Given the description of an element on the screen output the (x, y) to click on. 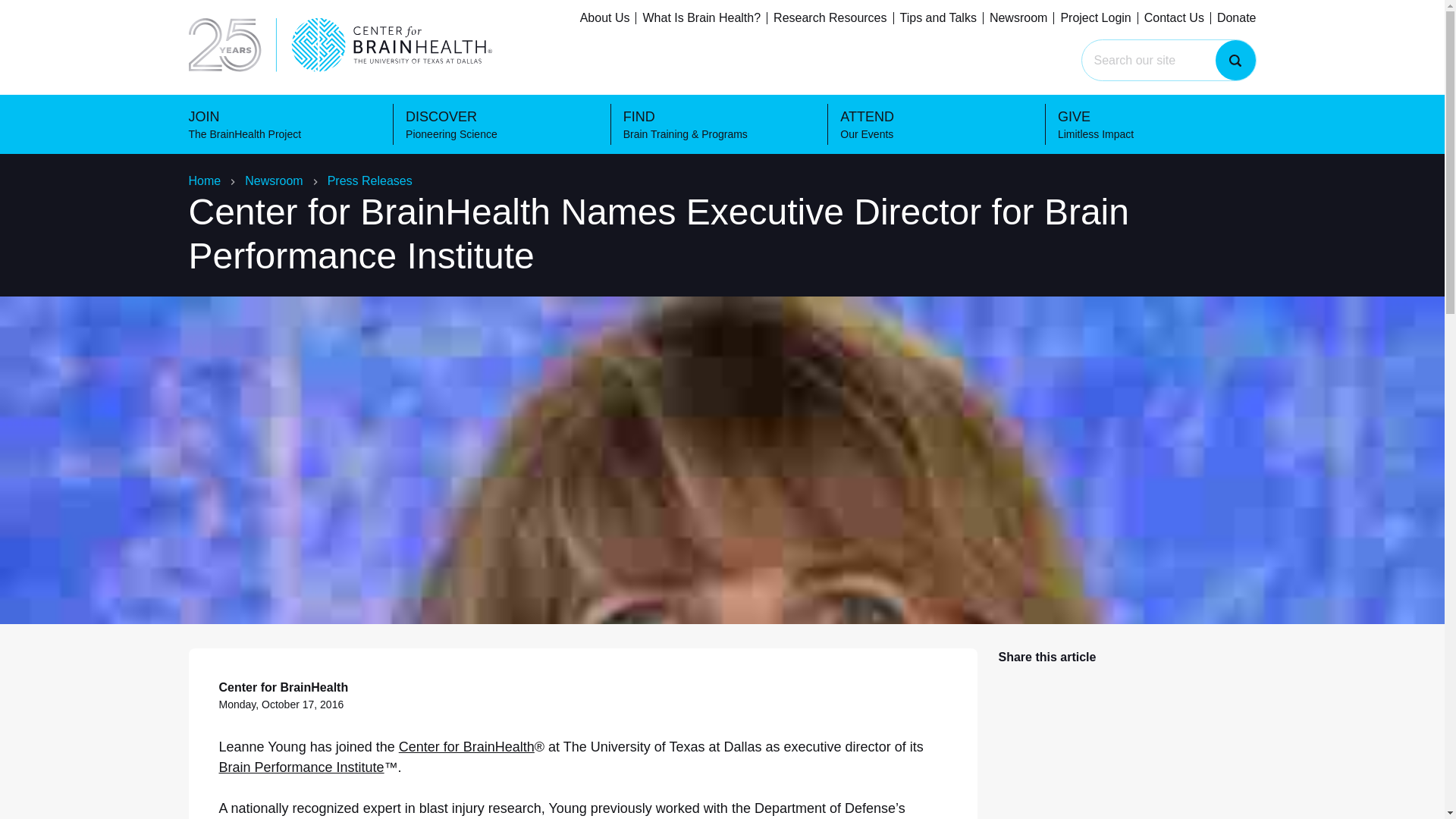
Our Events (992, 19)
About Us (1157, 124)
Project Login (604, 17)
The BrainHealth Project (1095, 17)
Contact Us (352, 19)
Newsroom (1174, 17)
Home (273, 180)
Tips and Talks (204, 180)
Pioneering Science (937, 17)
Limitless Impact (568, 19)
Donate (1169, 19)
Go to home page (1236, 17)
